Given the description of an element on the screen output the (x, y) to click on. 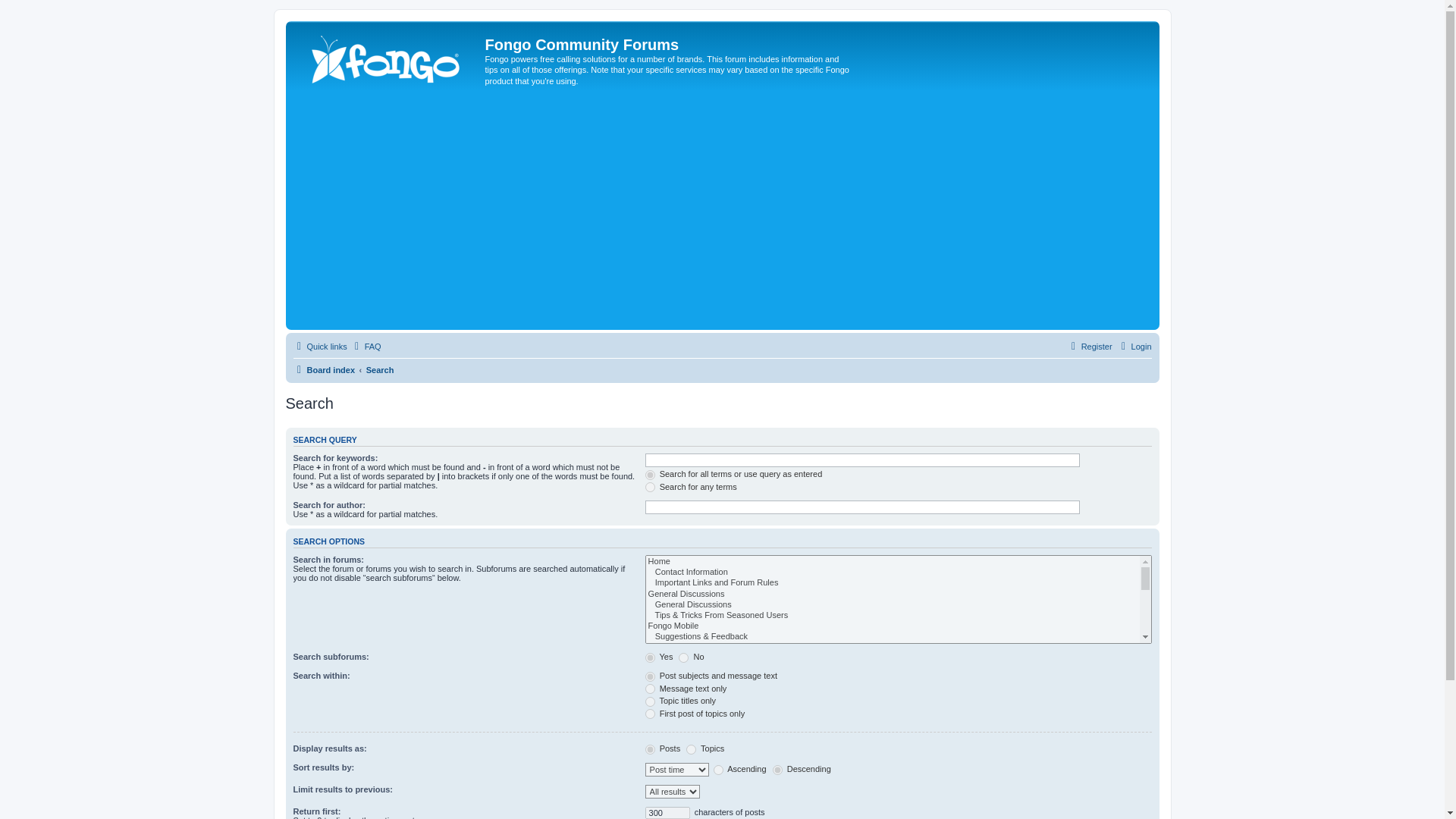
msgonly (650, 688)
all (650, 474)
Login (1134, 346)
FAQ (365, 346)
Board index (386, 56)
1 (650, 657)
Return first (667, 812)
Board index (323, 370)
Search (380, 370)
d (778, 769)
posts (650, 749)
Frequently Asked Questions (365, 346)
any (650, 487)
topics (690, 749)
